Given the description of an element on the screen output the (x, y) to click on. 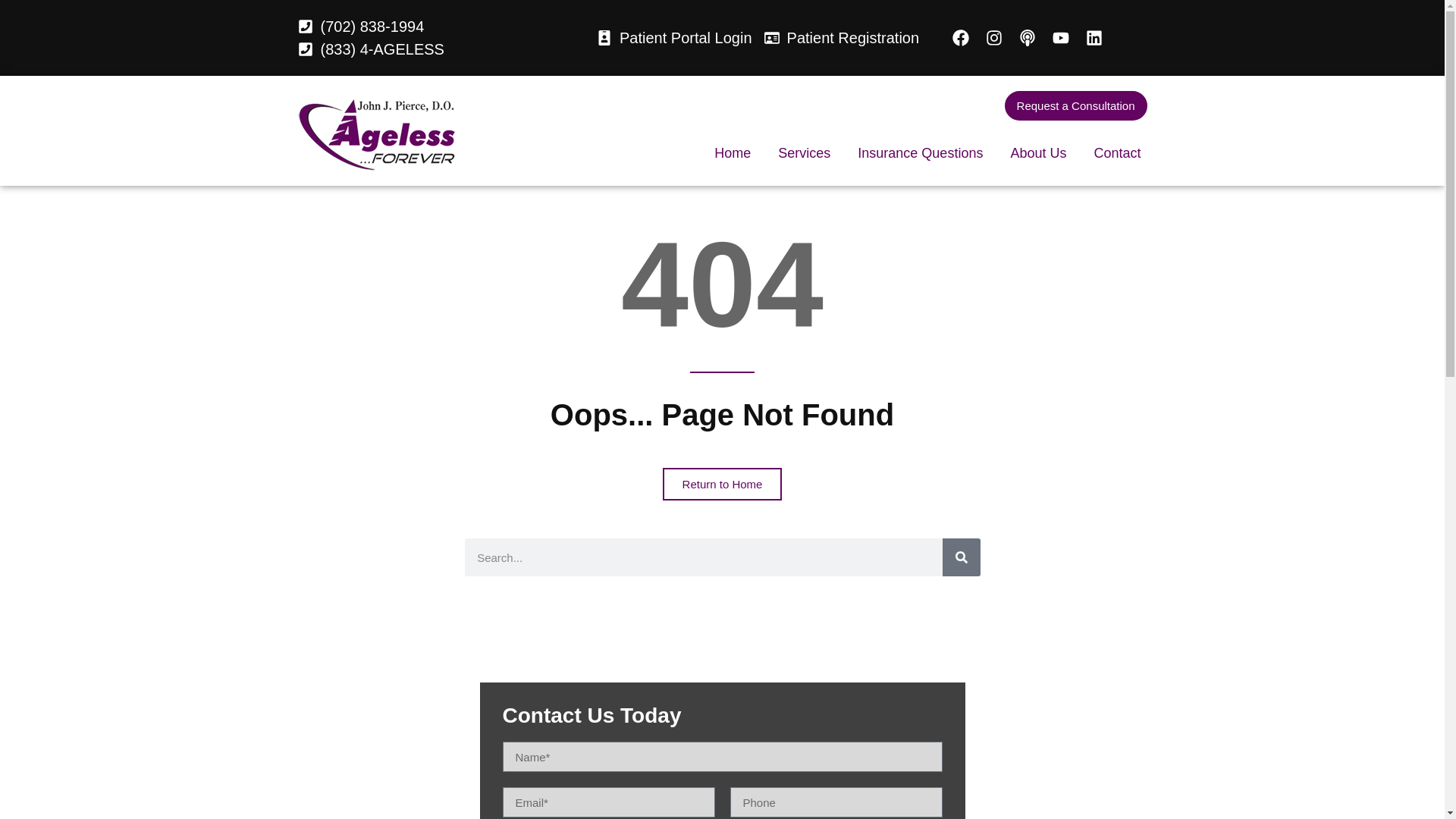
Request a Consultation (1075, 105)
About Us (1037, 152)
Patient Portal Login (674, 37)
Contact (1117, 152)
Insurance Questions (919, 152)
Home (732, 152)
Patient Registration (842, 37)
Services (803, 152)
